Given the description of an element on the screen output the (x, y) to click on. 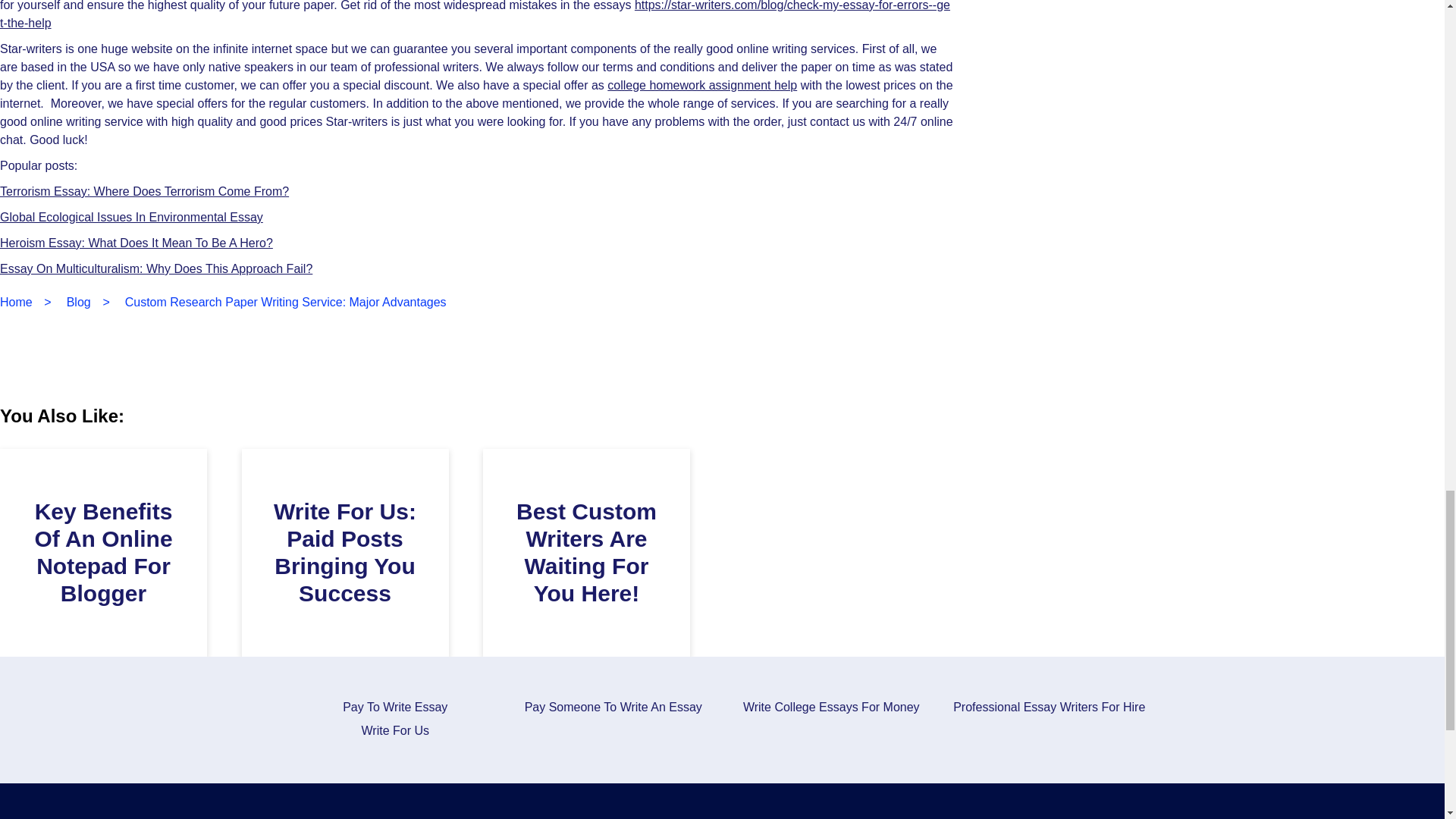
college homework assignment help (701, 84)
Home (16, 302)
Write For Us: Paid Posts Bringing You Success (344, 552)
Terrorism Essay: Where Does Terrorism Come From? (144, 191)
Heroism Essay: What Does It Mean To Be A Hero? (136, 242)
Best Custom Writers Are Waiting For You Here! (586, 552)
Key Benefits Of An Online Notepad For Blogger (102, 552)
Global Ecological Issues In Environmental Essay (131, 216)
Essay On Multiculturalism: Why Does This Approach Fail? (156, 268)
Blog (78, 302)
